Given the description of an element on the screen output the (x, y) to click on. 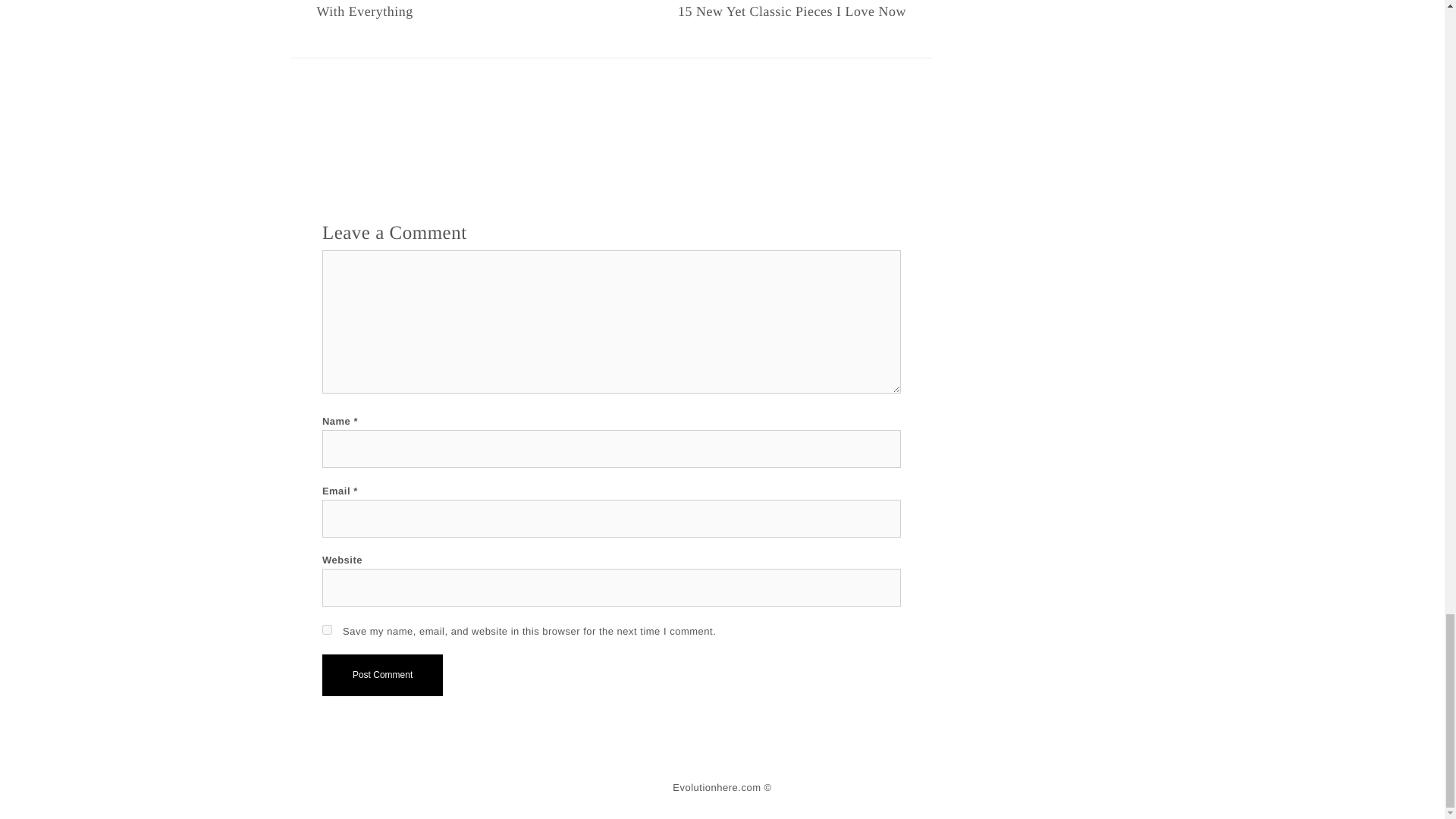
Post Comment (381, 674)
Post Comment (381, 674)
yes (326, 629)
